Given the description of an element on the screen output the (x, y) to click on. 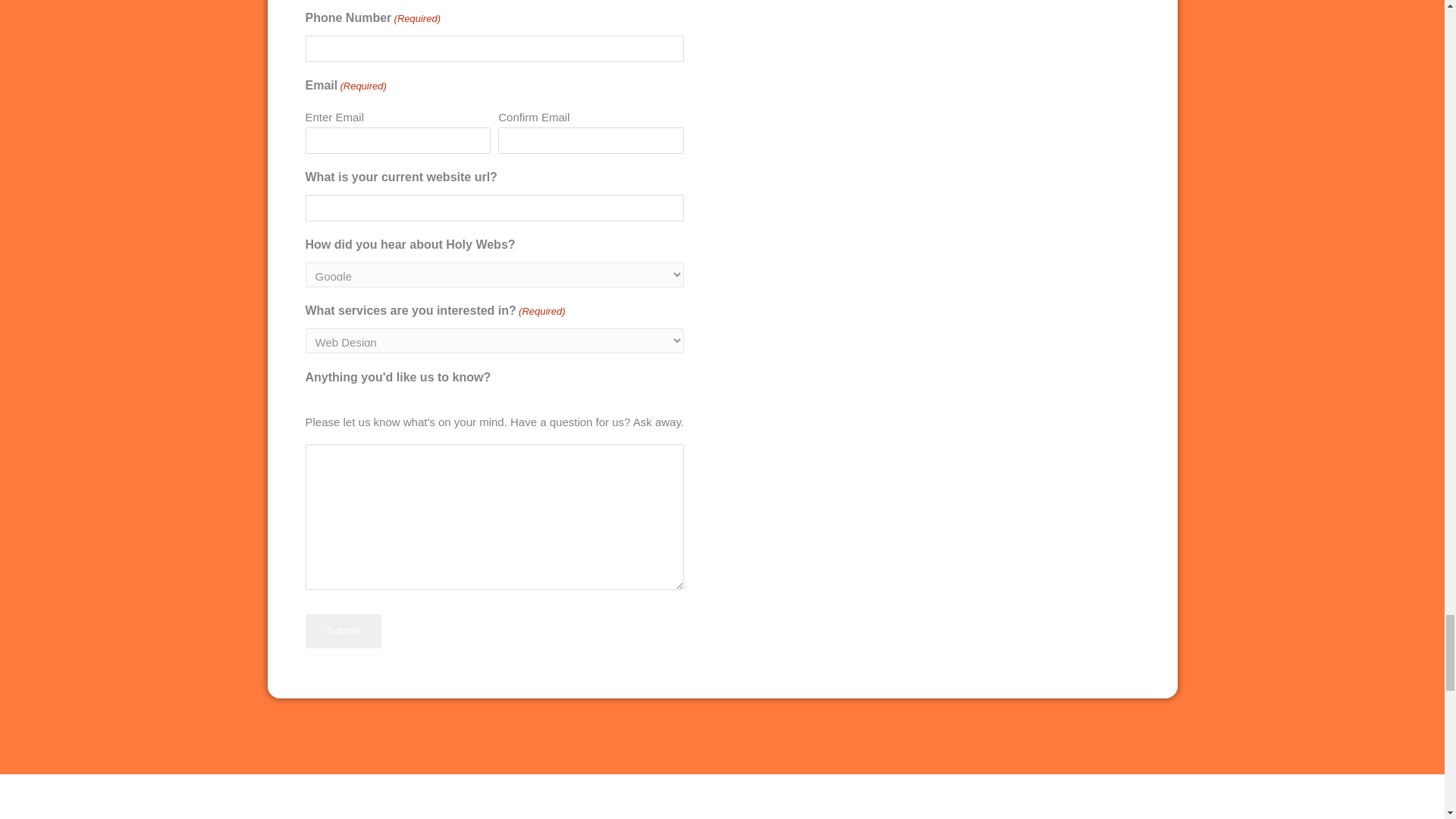
Submit (342, 630)
